Given the description of an element on the screen output the (x, y) to click on. 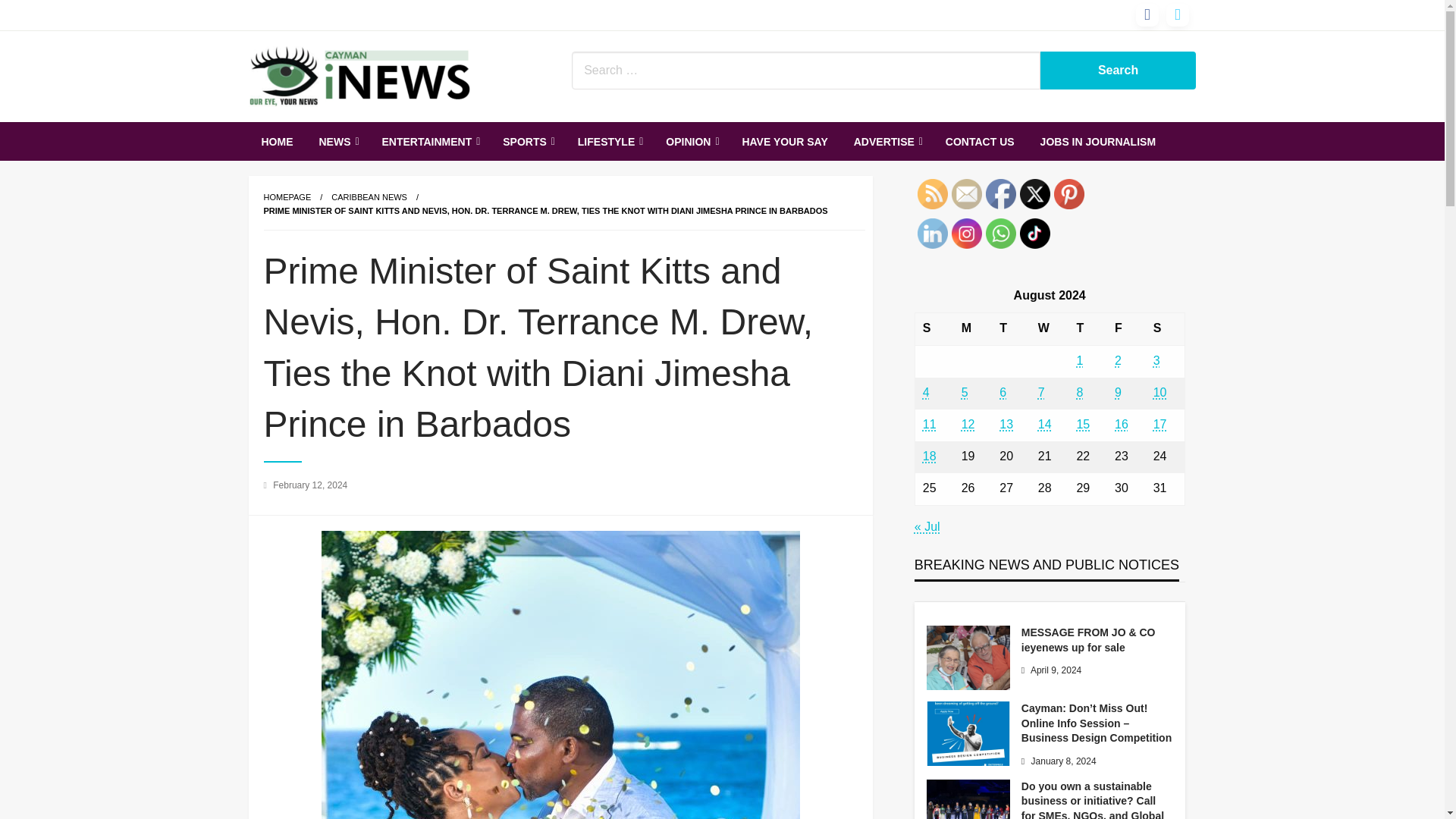
Search (1118, 70)
RSS (932, 194)
Homepage (287, 196)
NEWS (337, 141)
Search (1118, 70)
Search (1118, 70)
Caribbean News (369, 196)
SPORTS (526, 141)
Twitter (1034, 194)
Jobs in Journalism on Jooble (1098, 141)
